Given the description of an element on the screen output the (x, y) to click on. 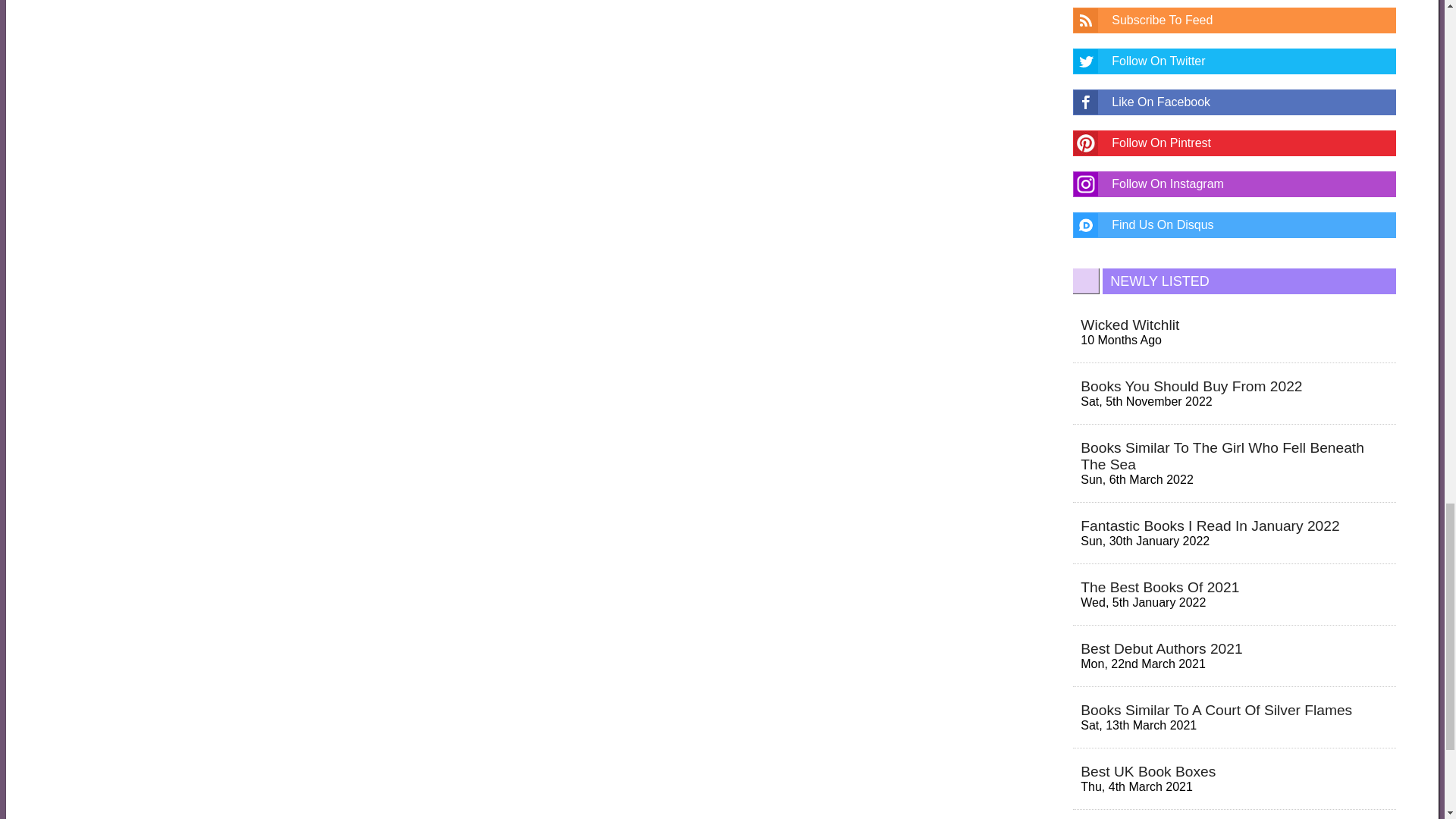
Like On Facebook (1234, 102)
Books Similar To A Court Of Silver Flames (1216, 709)
Wicked Witchlit (1129, 324)
Best Debut Authors 2021 (1160, 648)
The Best Books Of 2021 (1159, 587)
Follow On Twitter (1234, 61)
Find Us On Disqus (1234, 225)
Follow On Instagram (1234, 184)
Books Similar To The Girl Who Fell Beneath The Sea (1222, 455)
Subscribe To Feed (1234, 20)
Books You Should Buy From 2022 (1190, 385)
Follow On Pintrest (1234, 143)
Best UK Book Boxes (1147, 771)
Fantastic Books I Read In January 2022 (1209, 525)
